Given the description of an element on the screen output the (x, y) to click on. 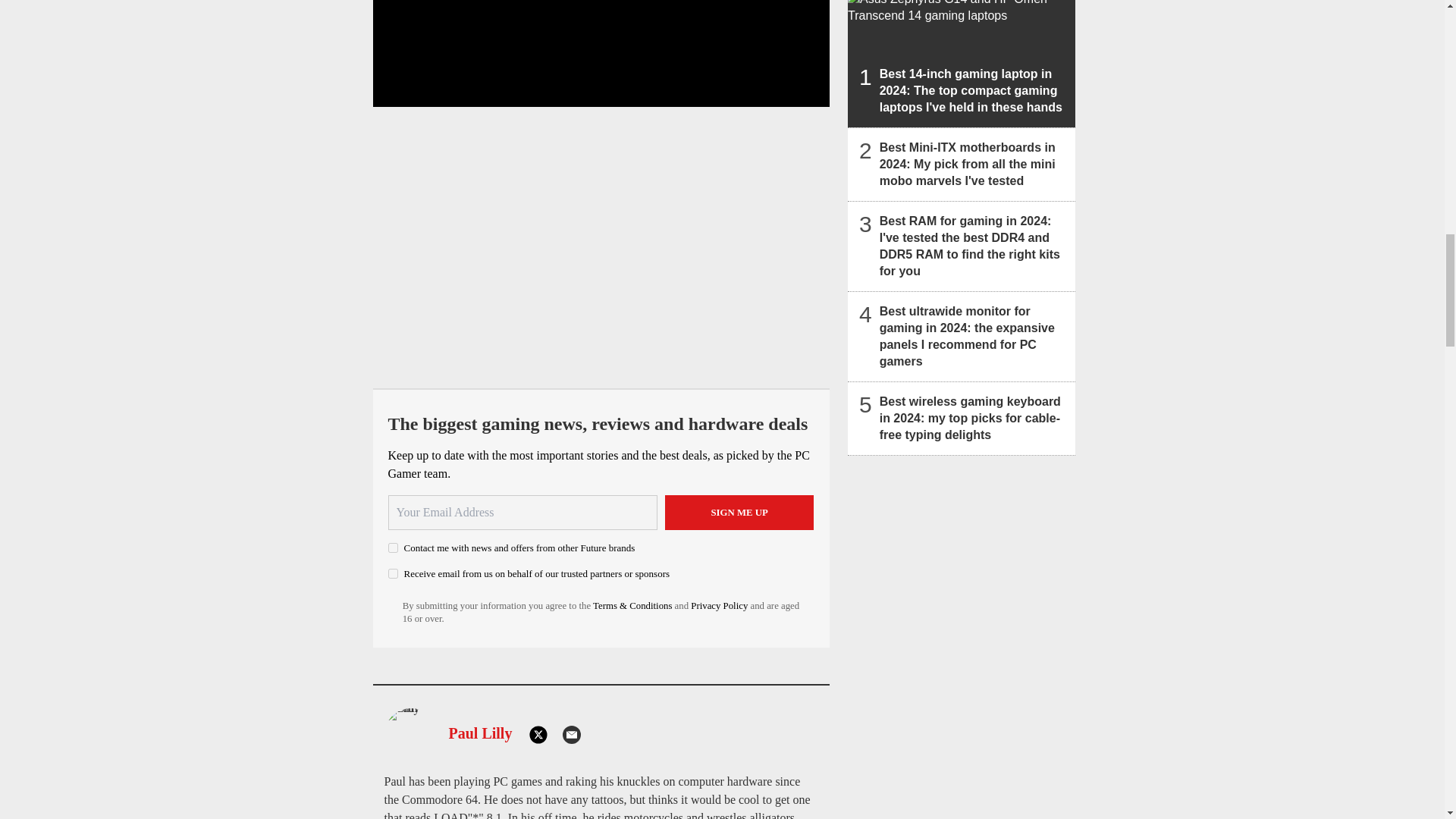
Sign me up (739, 512)
on (392, 573)
on (392, 547)
